Given the description of an element on the screen output the (x, y) to click on. 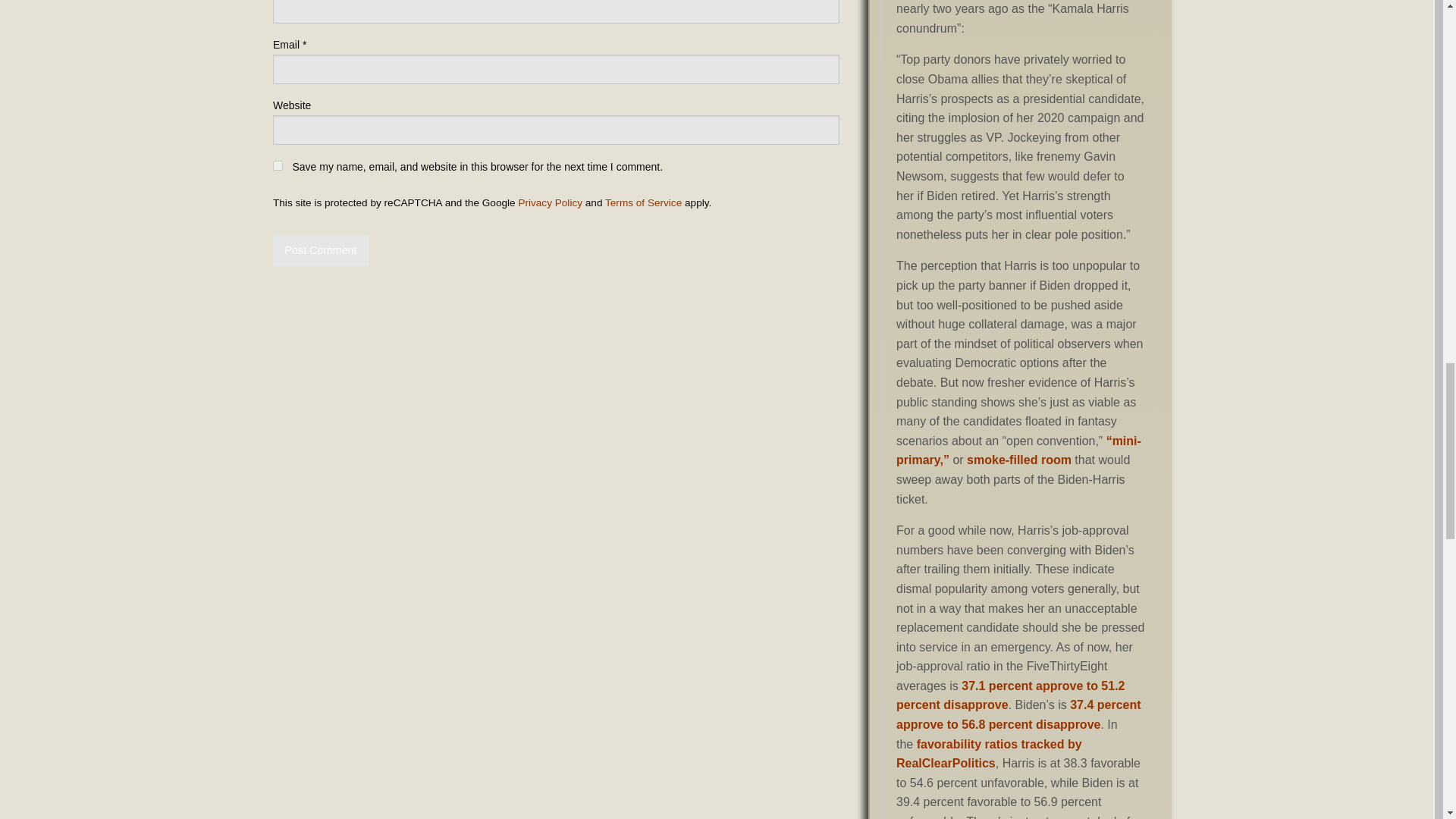
Post Comment (320, 250)
Privacy Policy (550, 202)
Post Comment (320, 250)
yes (277, 165)
Terms of Service (643, 202)
